Given the description of an element on the screen output the (x, y) to click on. 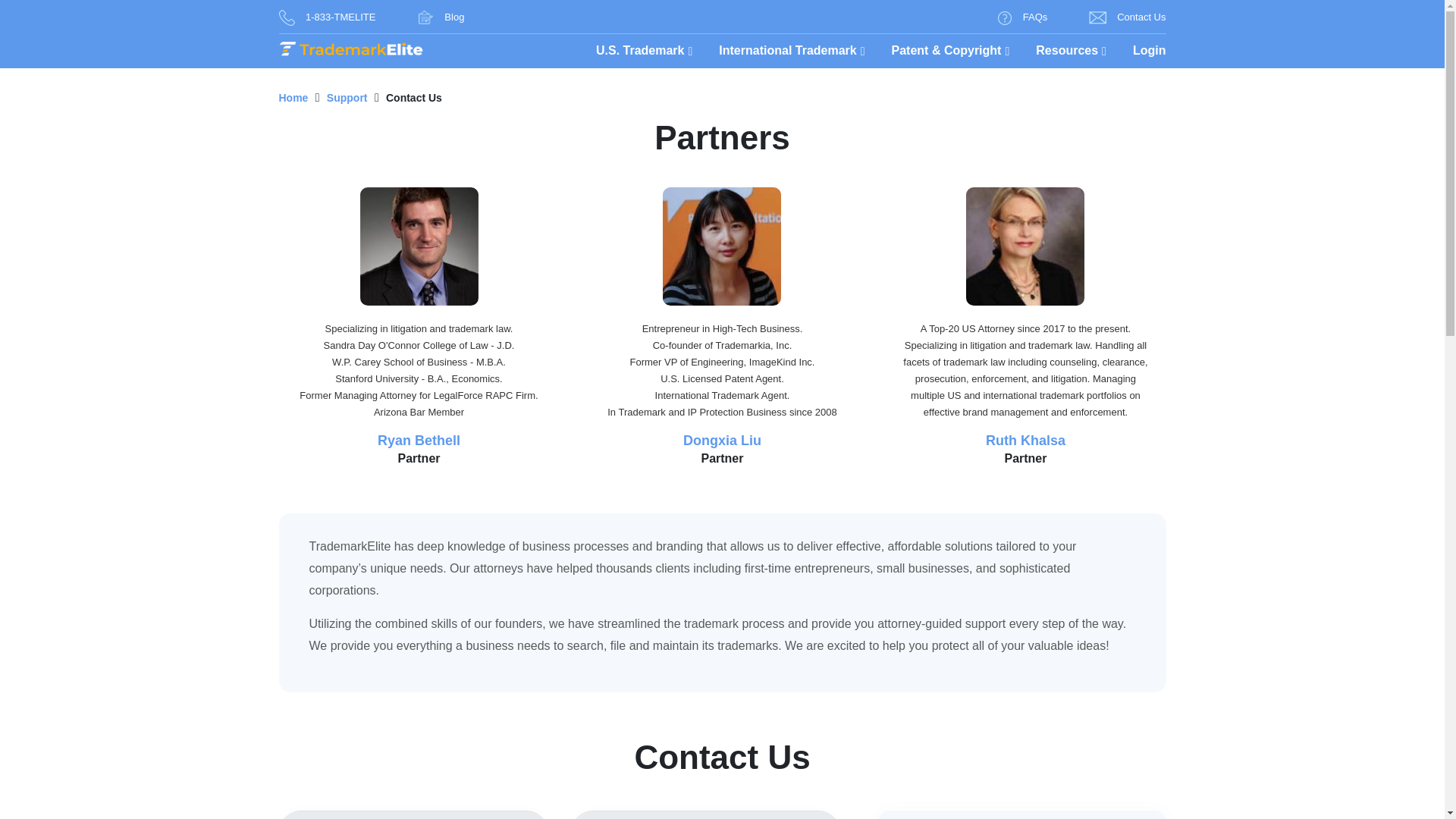
U.S. Trademark (644, 50)
International Trademark (791, 50)
Blog (440, 15)
FAQs (1021, 15)
Contact Us (1127, 15)
Trademark and Patent FAQs (1021, 15)
1-833-TMELITE (327, 15)
